Given the description of an element on the screen output the (x, y) to click on. 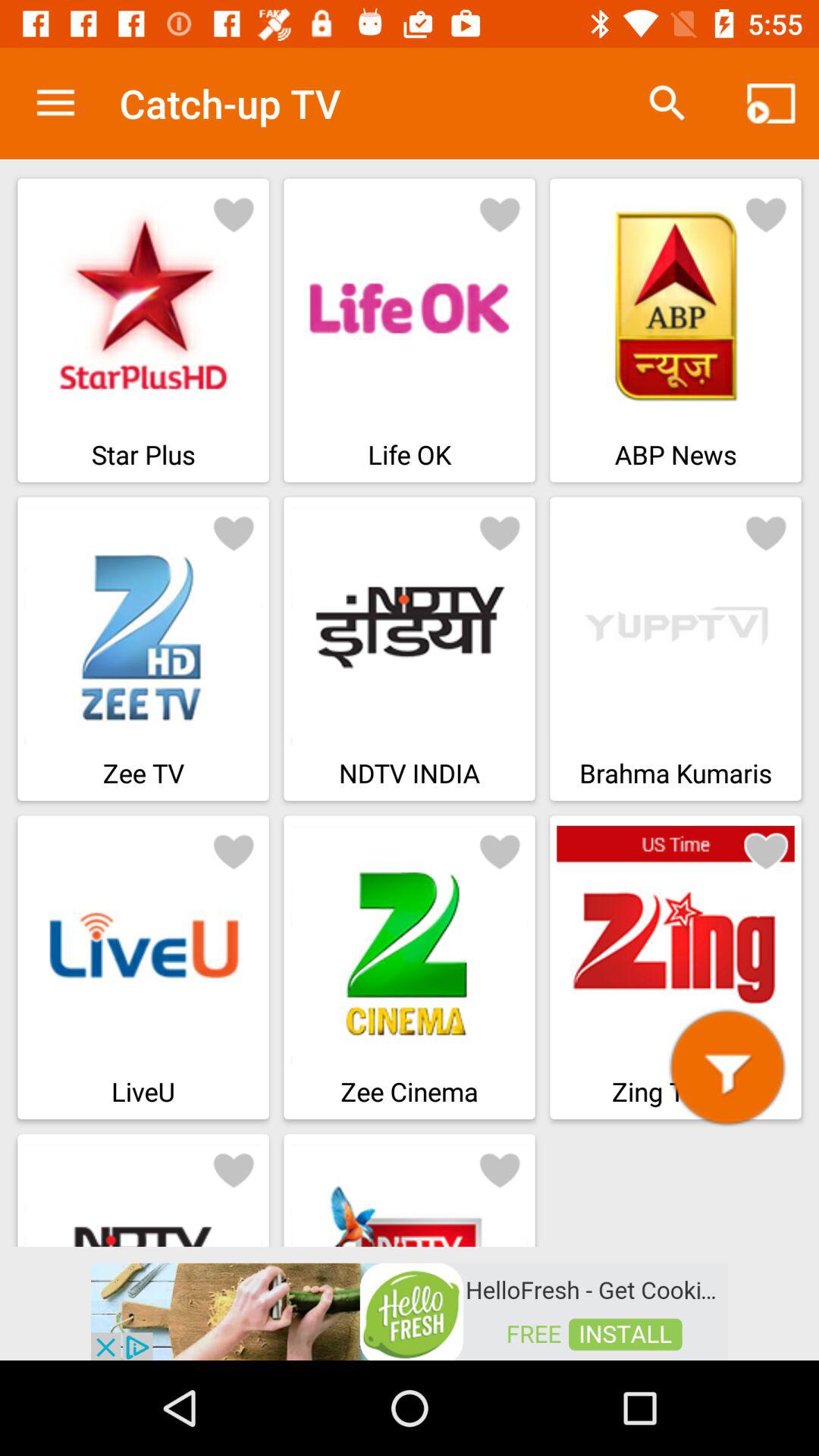
toggle favorite (233, 1169)
